Given the description of an element on the screen output the (x, y) to click on. 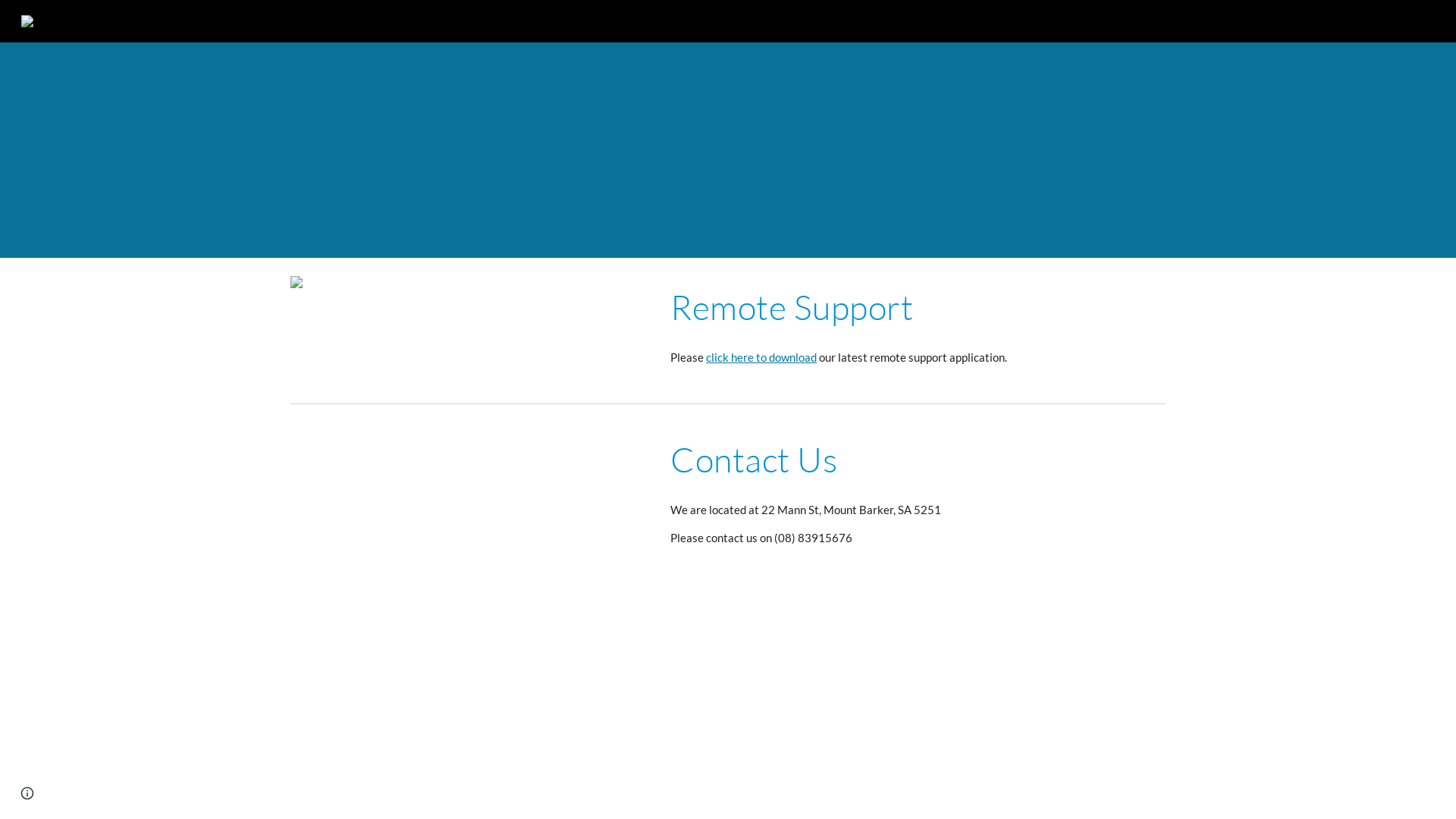
click here to download Element type: text (761, 357)
